Given the description of an element on the screen output the (x, y) to click on. 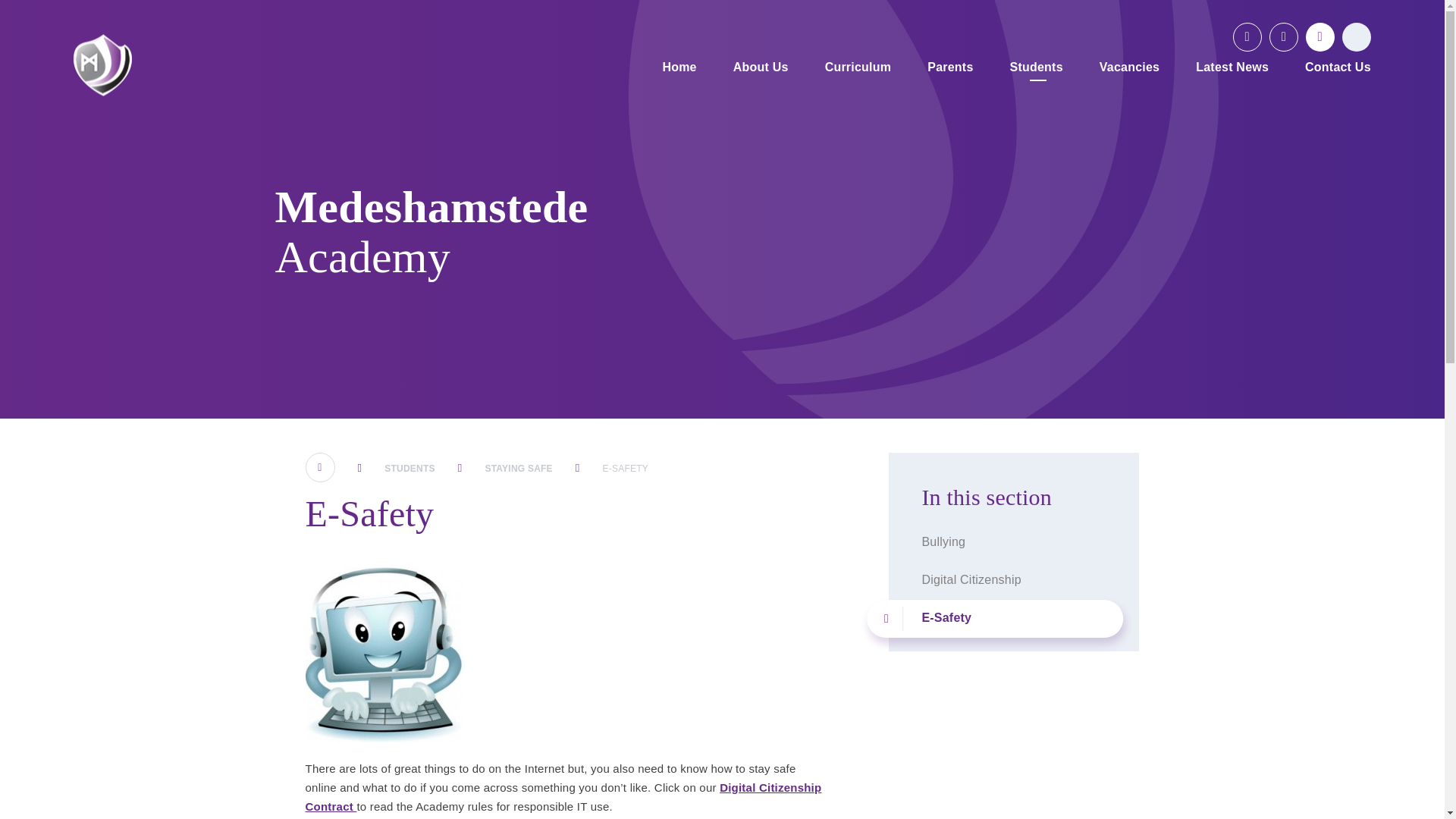
Search... (1356, 36)
Twitter (1247, 36)
About Us (760, 67)
search... (1356, 36)
Home (678, 67)
Search... (1356, 36)
Medeshamstede Academy (103, 64)
